Given the description of an element on the screen output the (x, y) to click on. 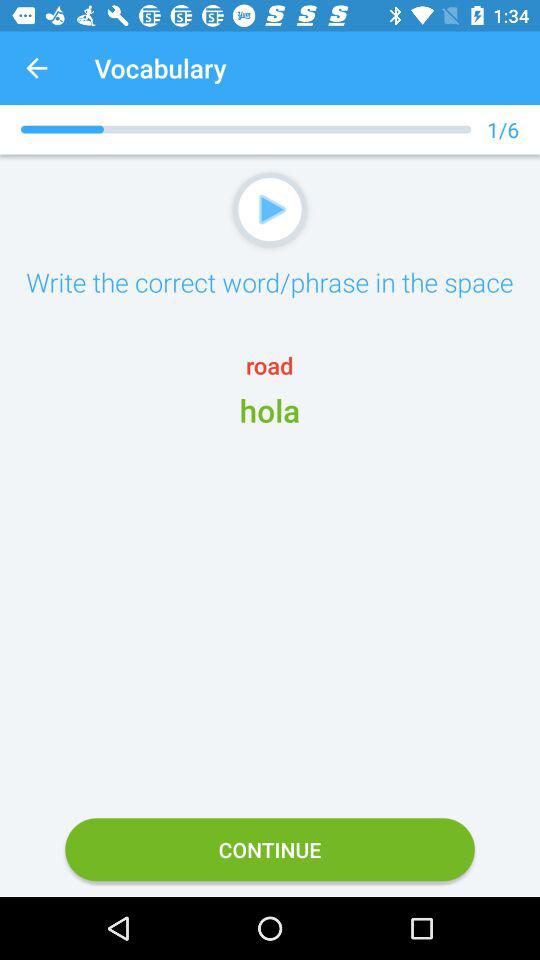
turn off the icon to the left of the vocabulary icon (36, 68)
